Given the description of an element on the screen output the (x, y) to click on. 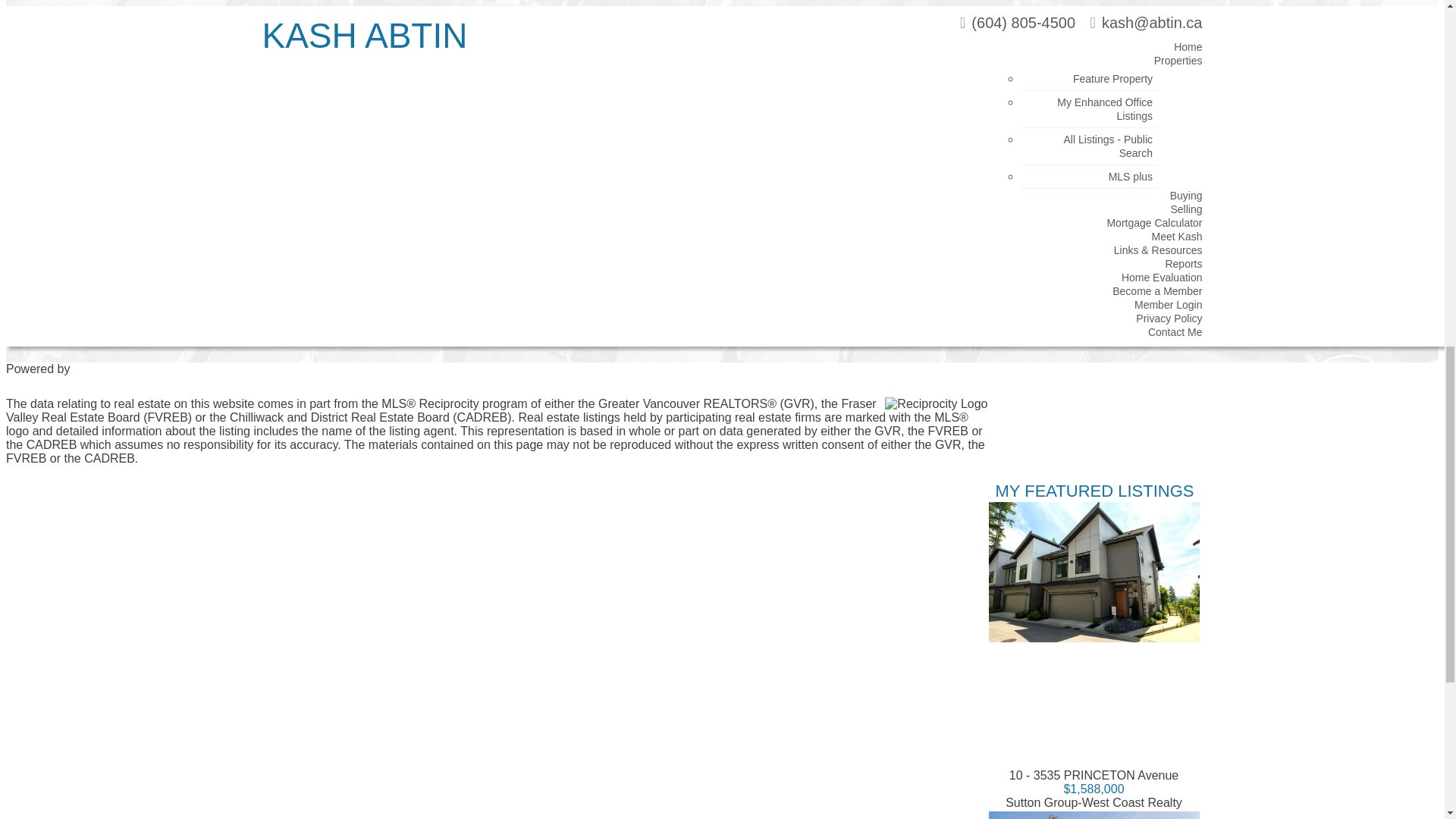
myRealPage.com (722, 386)
CONTACT ME NOW! (627, 130)
